Given the description of an element on the screen output the (x, y) to click on. 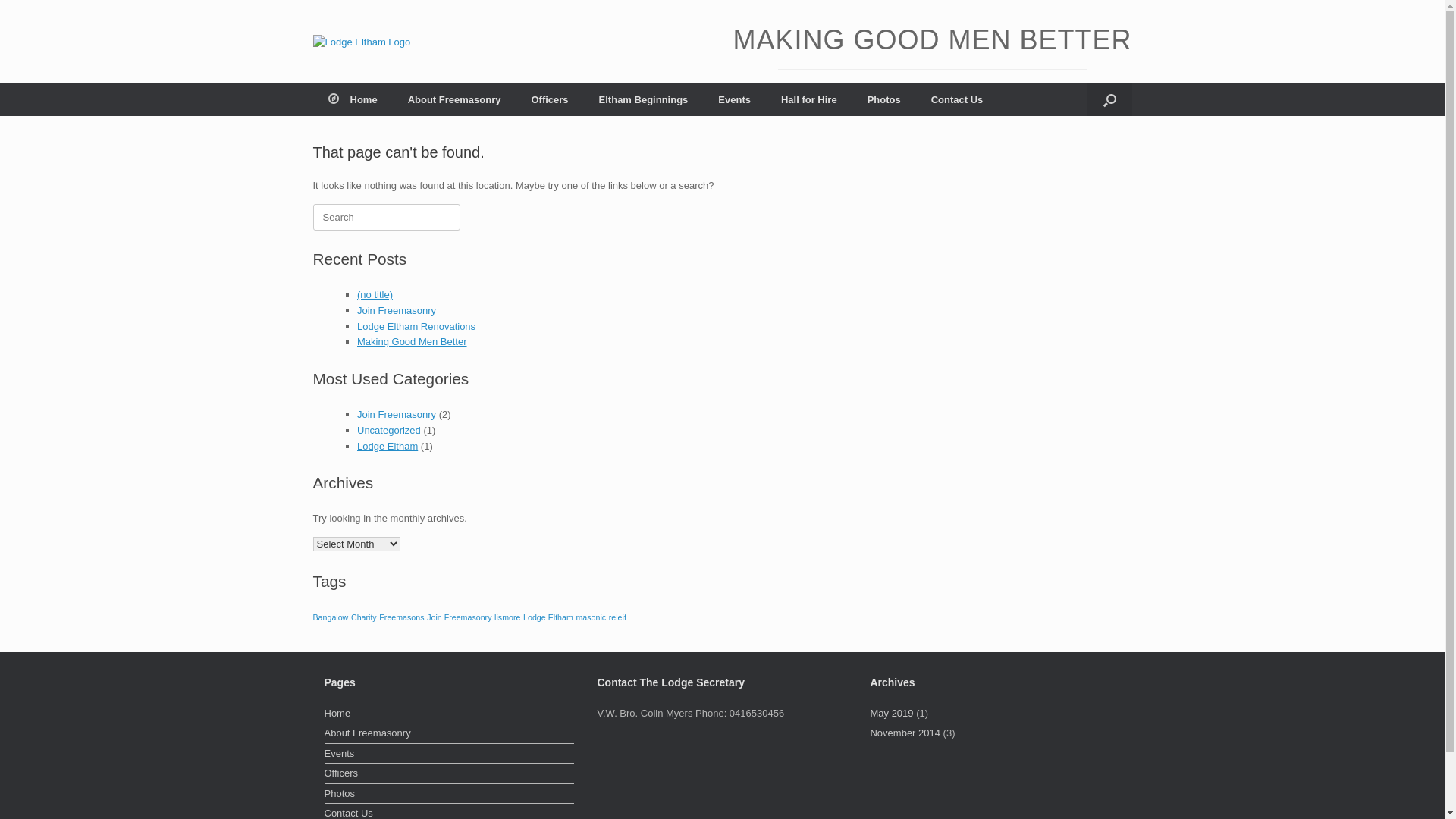
Home Element type: text (352, 99)
Photos Element type: text (884, 99)
Lodge Eltham Element type: text (387, 445)
(no title) Element type: text (374, 294)
Uncategorized Element type: text (388, 430)
Events Element type: text (733, 99)
Events Element type: text (449, 755)
Hall for Hire Element type: text (808, 99)
Officers Element type: text (449, 774)
Bangalow Element type: text (330, 616)
Join Freemasonry Element type: text (458, 616)
Contact Us Element type: text (957, 99)
Skip to content Element type: text (0, 0)
Home Element type: text (449, 715)
Join Freemasonry Element type: text (396, 310)
About Freemasonry Element type: text (449, 734)
Lodge Eltham Renovations Element type: text (416, 326)
Freemasons Element type: text (401, 616)
May 2019 Element type: text (891, 712)
Eltham Beginnings Element type: text (643, 99)
Lodge Eltham Element type: hover (361, 41)
releif Element type: text (617, 616)
Charity Element type: text (363, 616)
Making Good Men Better Element type: text (412, 341)
Lodge Eltham Element type: text (548, 616)
November 2014 Element type: text (904, 732)
Join Freemasonry Element type: text (396, 414)
About Freemasonry Element type: text (454, 99)
lismore Element type: text (507, 616)
masonic Element type: text (590, 616)
Photos Element type: text (449, 795)
Officers Element type: text (549, 99)
